Given the description of an element on the screen output the (x, y) to click on. 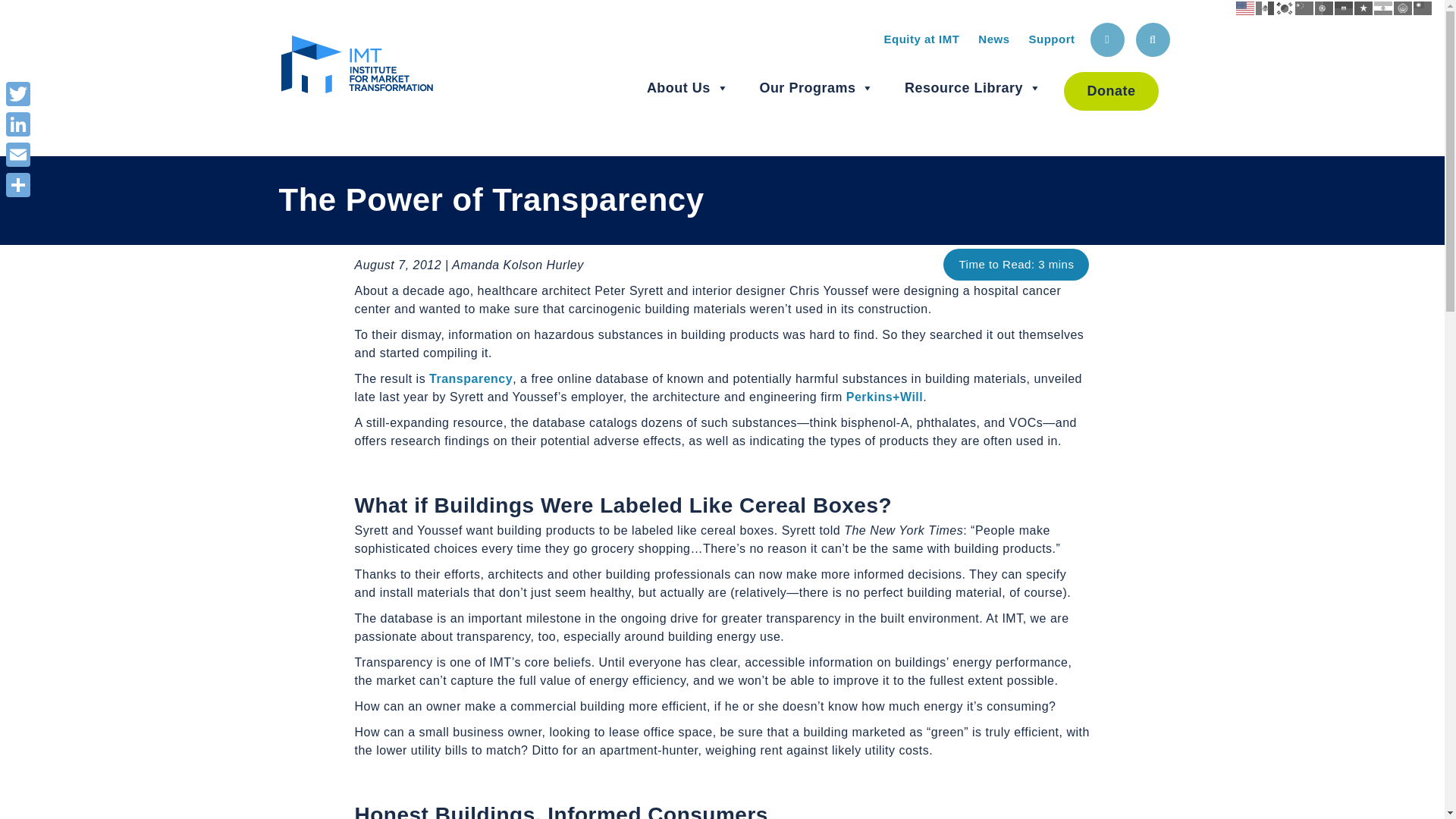
English (1245, 6)
LinkedIn (17, 123)
Equity at IMT (920, 39)
About Us (687, 87)
Search (1152, 39)
Email (17, 154)
Our Programs (816, 87)
Support (1051, 39)
News (993, 39)
Resource Library (972, 87)
Twitter (17, 93)
Kreyol ayisyen (1344, 6)
